Given the description of an element on the screen output the (x, y) to click on. 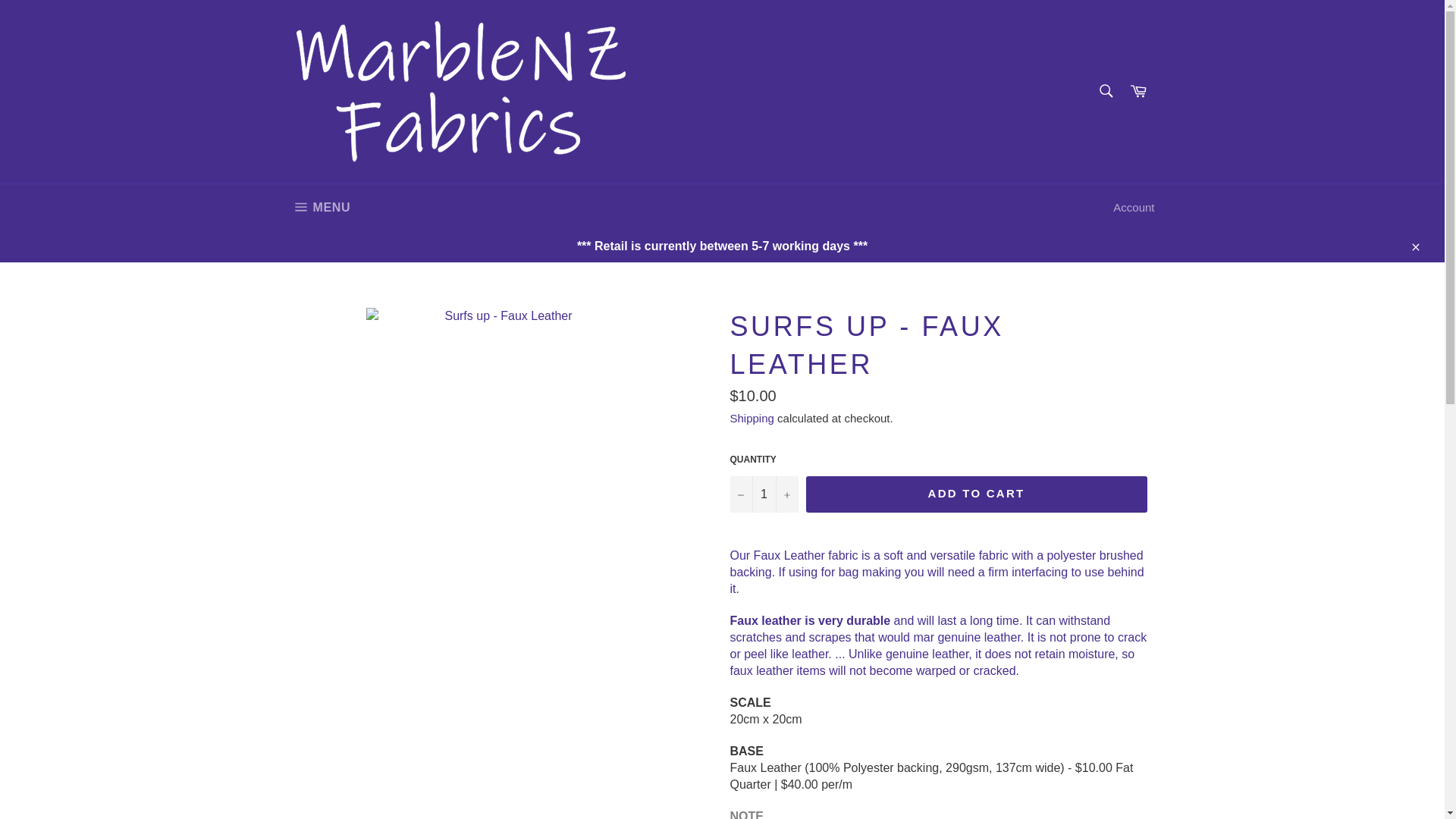
1 (763, 493)
Cart (1138, 91)
Search (320, 207)
